Given the description of an element on the screen output the (x, y) to click on. 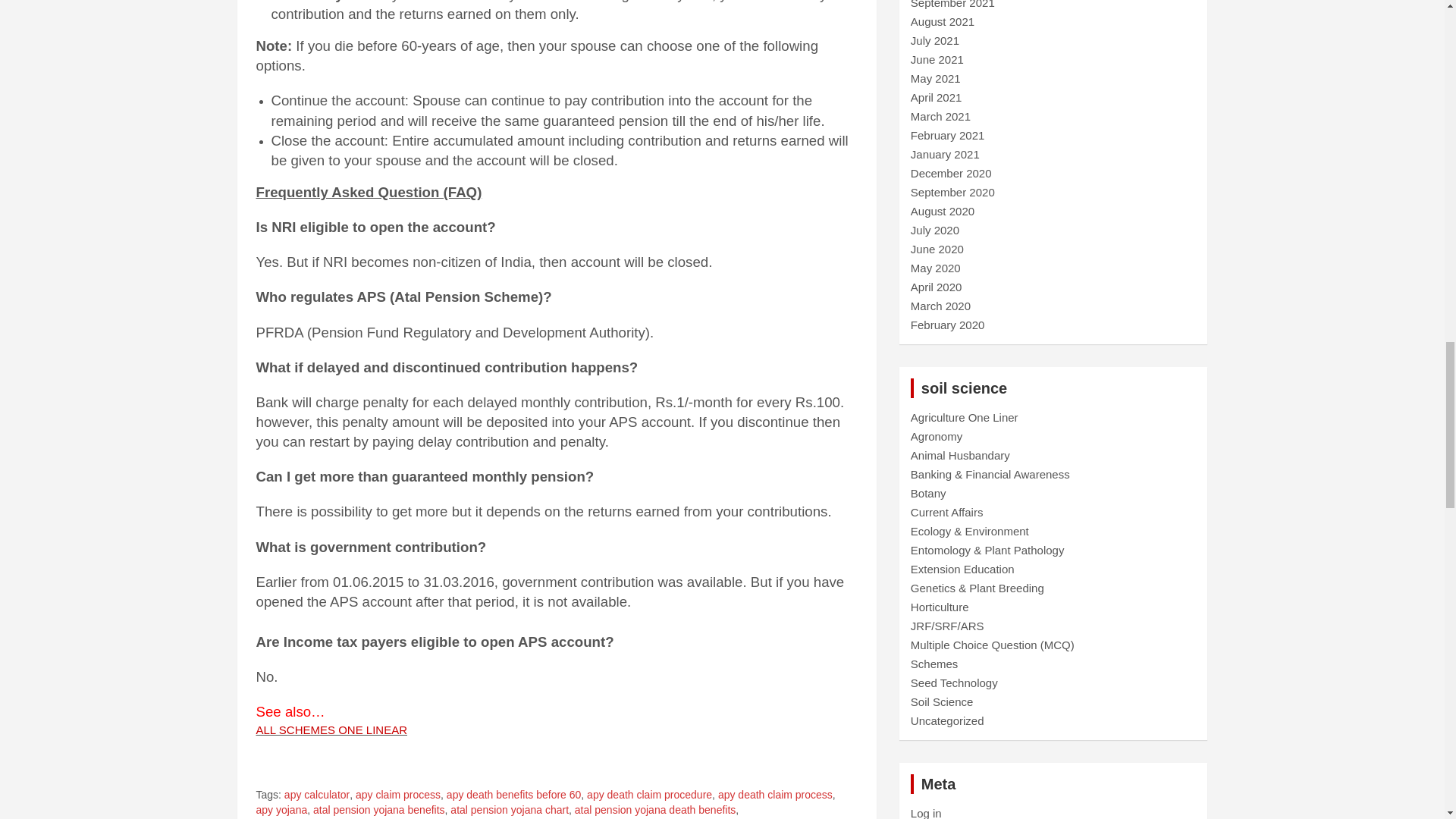
apy death benefits before 60 (513, 795)
ALL SCHEMES ONE LINEAR (331, 729)
apy claim process (398, 795)
atal pension yojana benefits (379, 810)
apy calculator (316, 795)
apy yojana (281, 810)
apy death claim procedure (648, 795)
atal pension yojana chart (509, 810)
apy death claim process (774, 795)
